Given the description of an element on the screen output the (x, y) to click on. 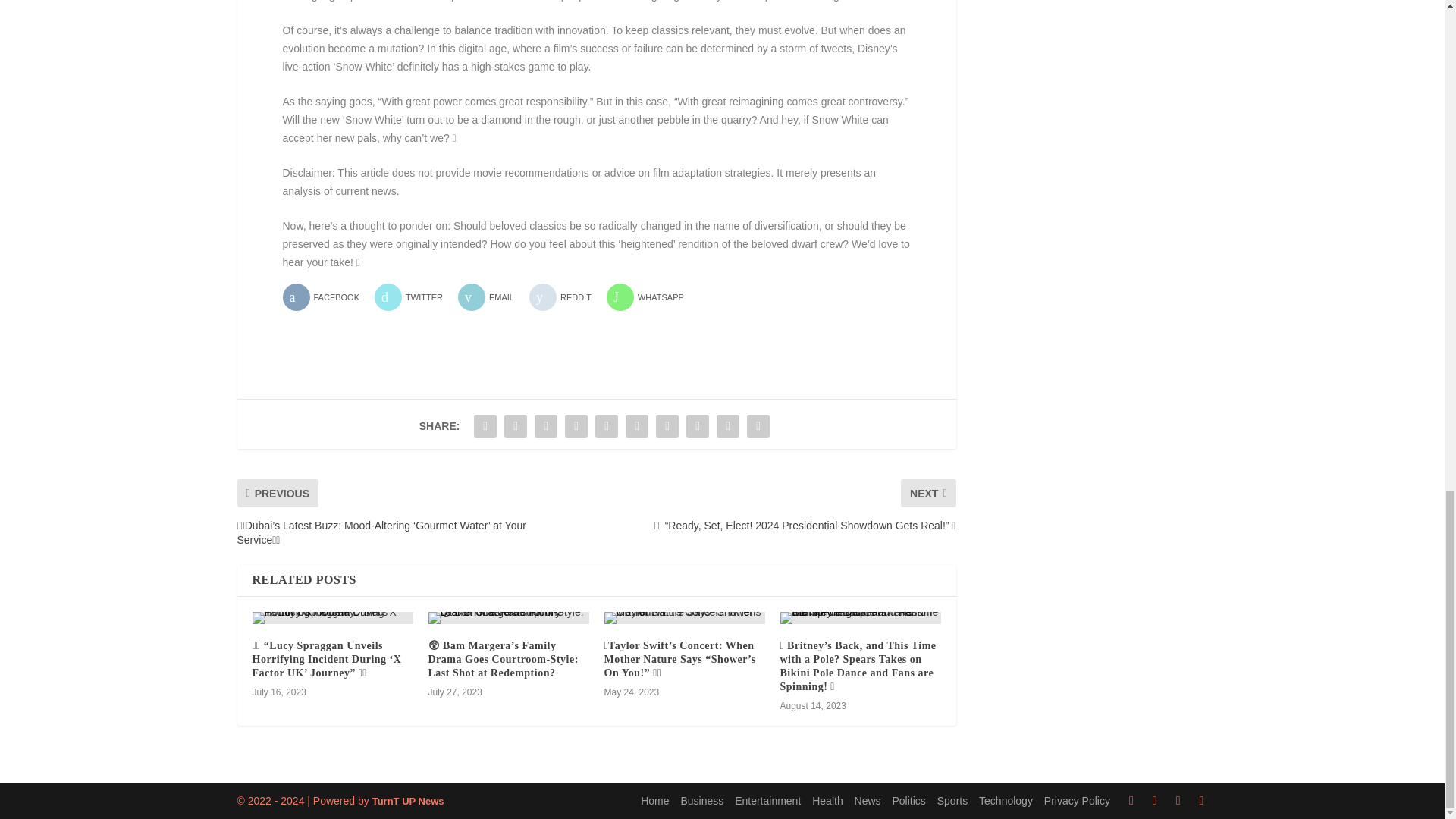
Share on WhatsApp (651, 297)
Share on Facebook (326, 297)
Share on Reddit (565, 297)
FACEBOOK (326, 297)
Share on Twitter (414, 297)
Share on Email (491, 297)
